Given the description of an element on the screen output the (x, y) to click on. 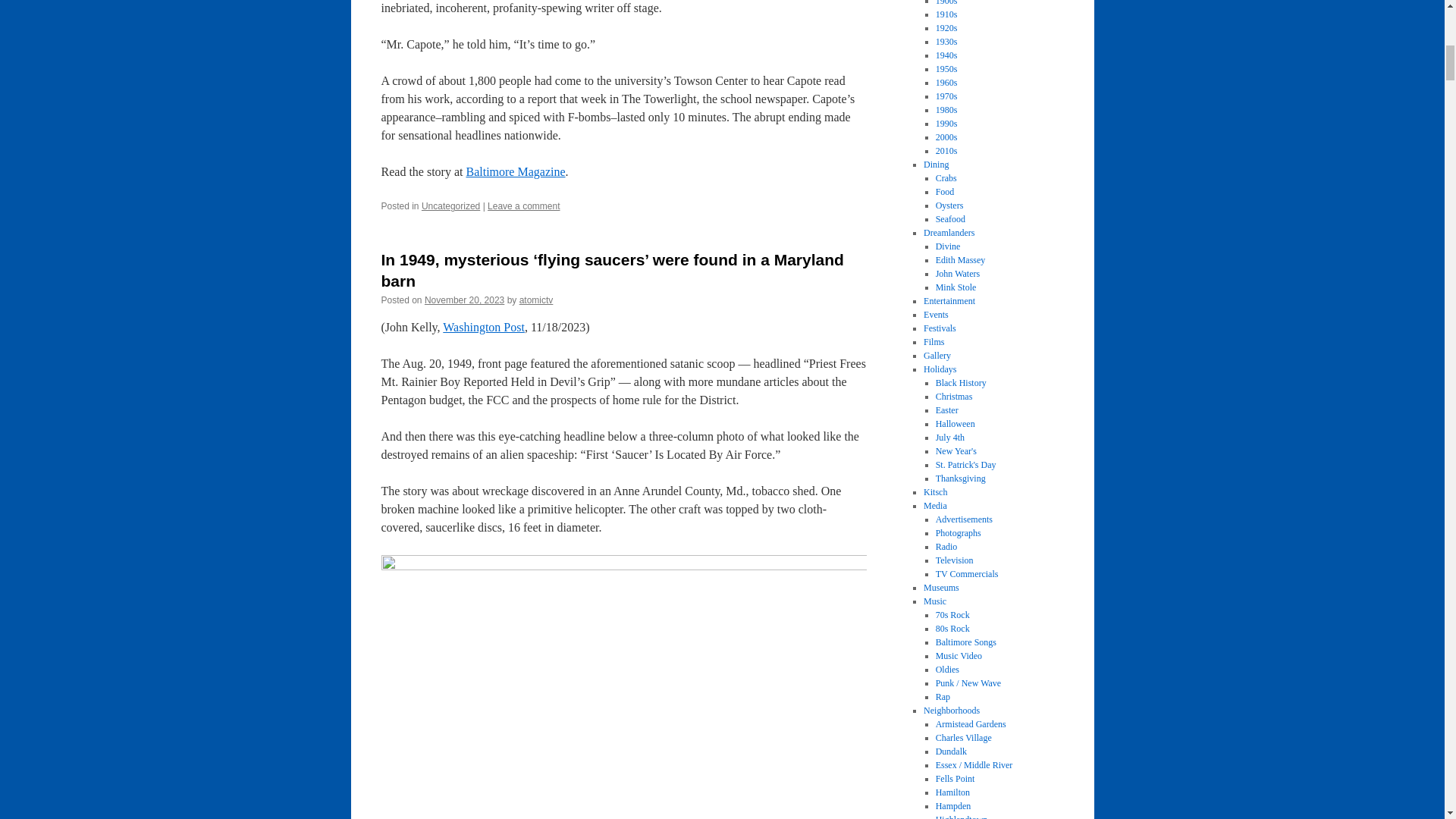
9:37 am (464, 299)
atomictv (536, 299)
Washington Post (483, 327)
Uncategorized (451, 205)
November 20, 2023 (464, 299)
Leave a comment (523, 205)
Baltimore Magazine (514, 171)
View all posts by atomictv (536, 299)
